Given the description of an element on the screen output the (x, y) to click on. 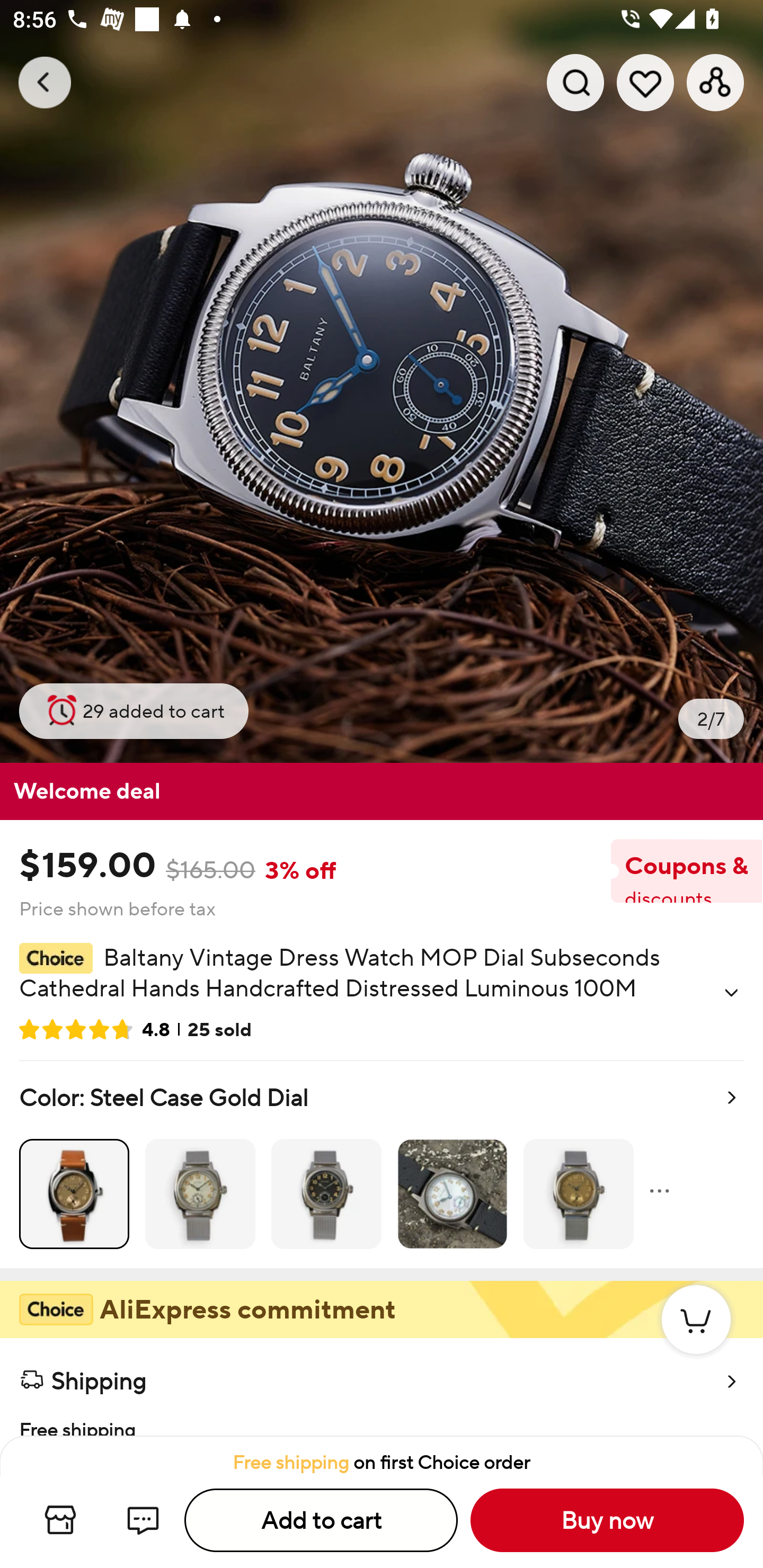
Navigate up (44, 82)
 (730, 992)
Color: Steel Case Gold Dial  (381, 1164)
Shipping  Free shipping  (381, 1386)
Add to cart (320, 1520)
Buy now (606, 1520)
